Given the description of an element on the screen output the (x, y) to click on. 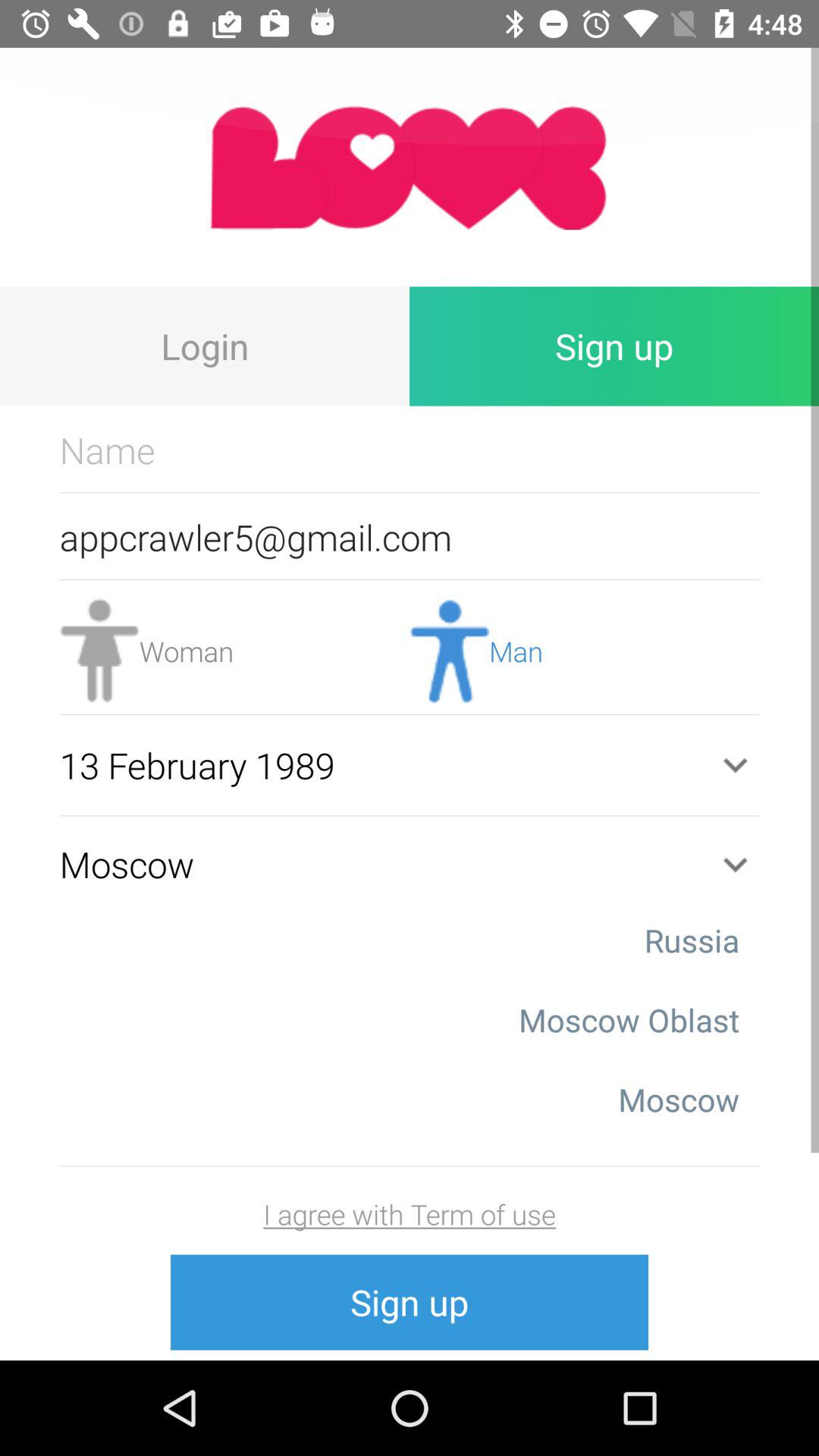
go to home page (409, 166)
